Given the description of an element on the screen output the (x, y) to click on. 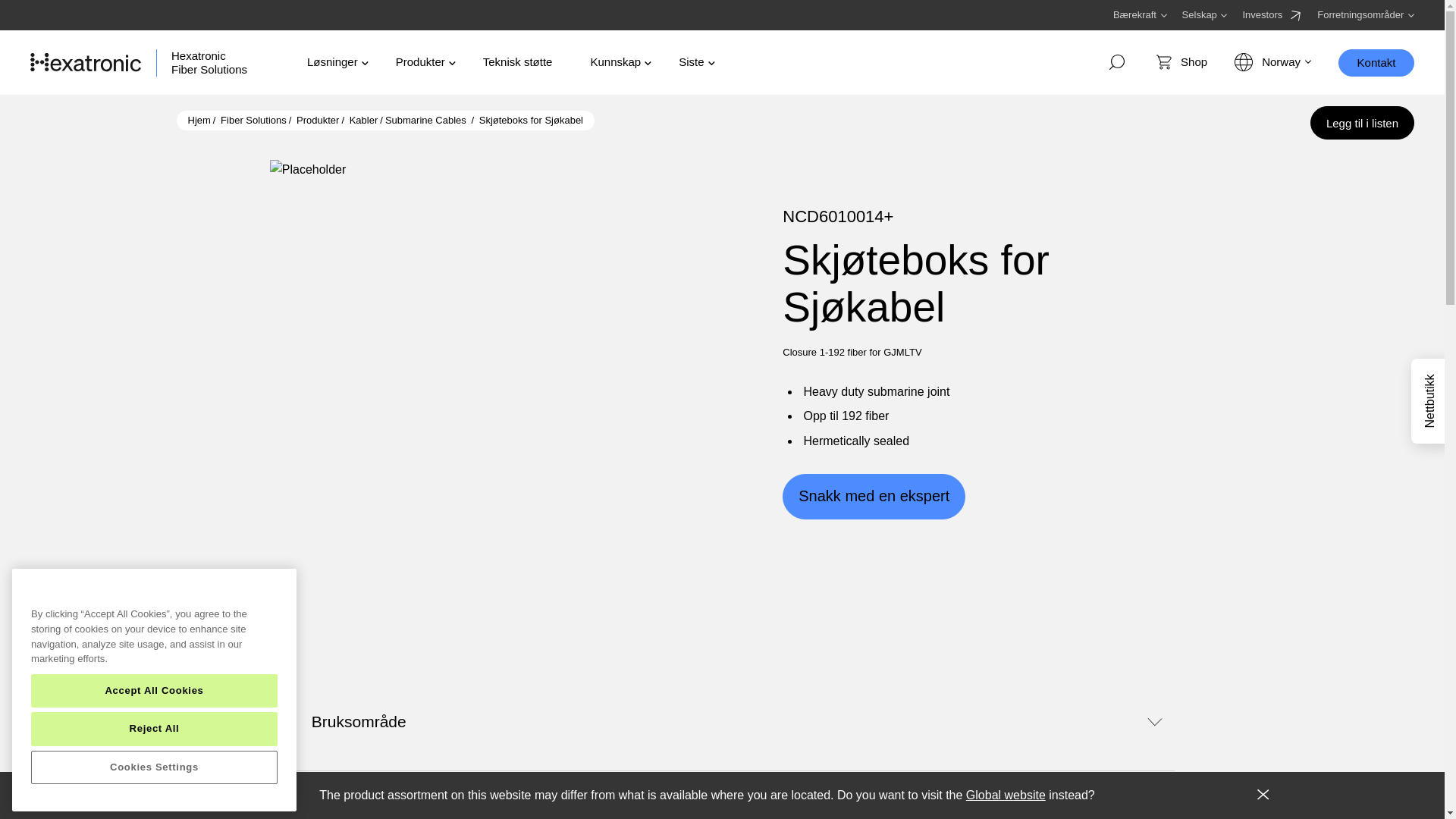
Investors (209, 61)
Selskap (1271, 15)
Skip to main content (1204, 15)
